Given the description of an element on the screen output the (x, y) to click on. 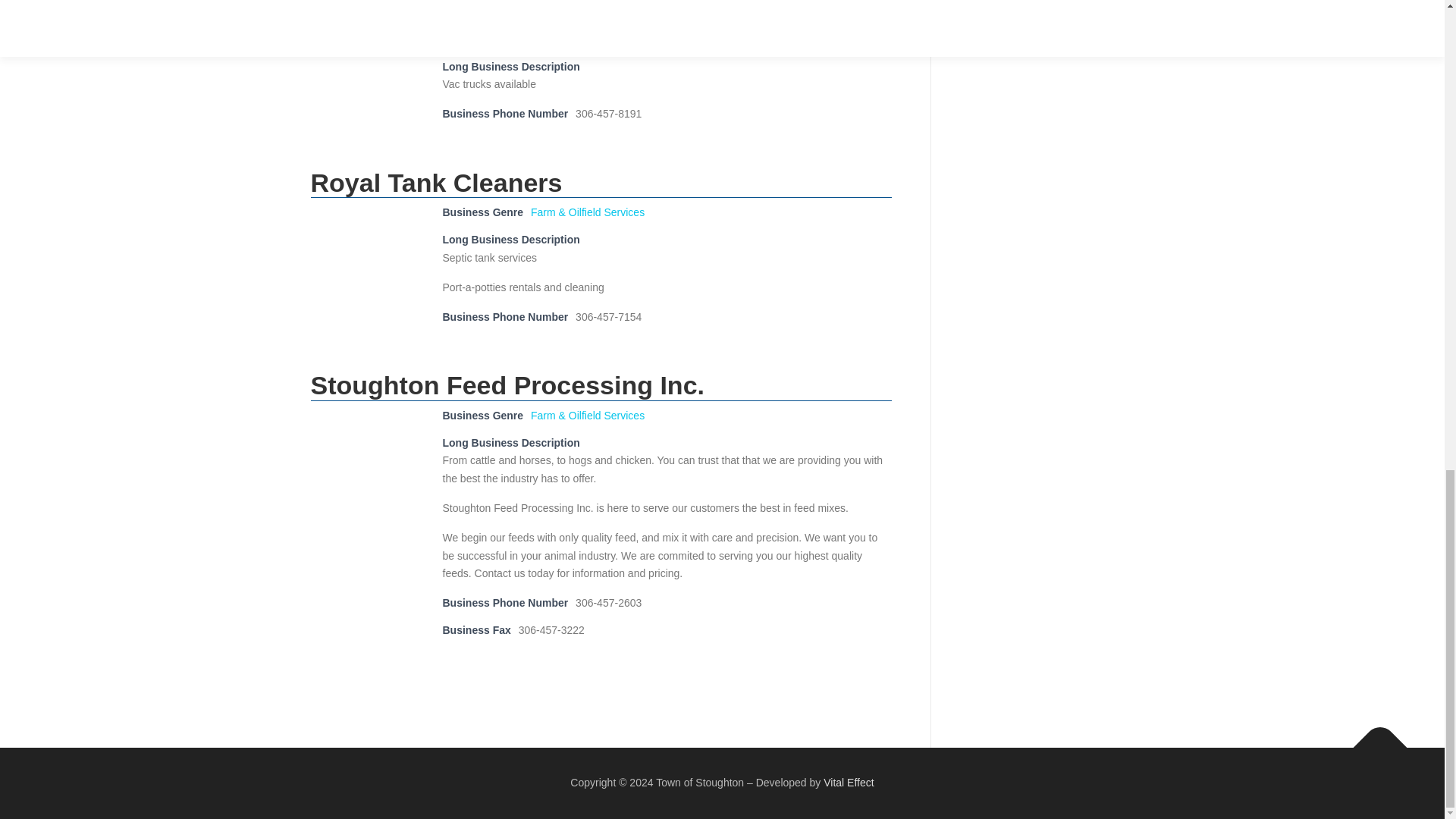
Back To Top (1372, 739)
